Given the description of an element on the screen output the (x, y) to click on. 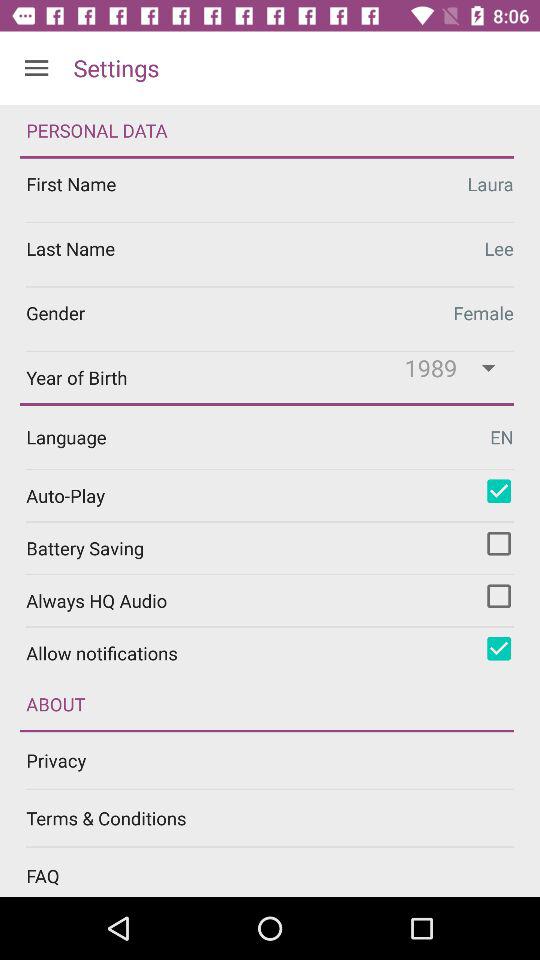
toggle always hq audio setting (499, 596)
